Given the description of an element on the screen output the (x, y) to click on. 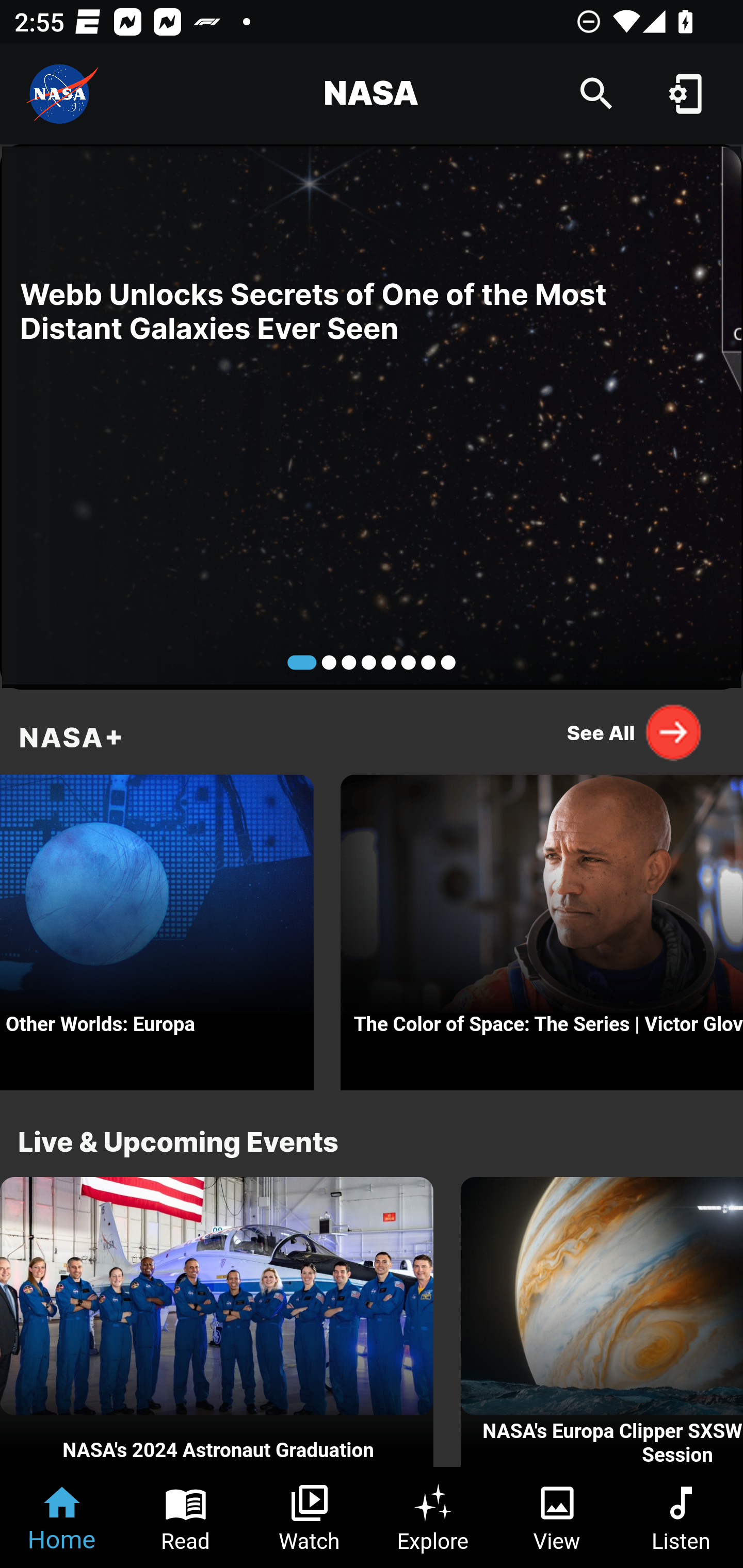
See All (634, 732)
Other Worlds: Europa (156, 927)
The Color of Space: The Series | Victor Glover (541, 927)
NASA's 2024 Astronaut Graduation (216, 1322)
NASA's Europa Clipper SXSW 2024 Opening Session (601, 1322)
Home
Tab 1 of 6 (62, 1517)
Read
Tab 2 of 6 (185, 1517)
Watch
Tab 3 of 6 (309, 1517)
Explore
Tab 4 of 6 (433, 1517)
View
Tab 5 of 6 (556, 1517)
Listen
Tab 6 of 6 (680, 1517)
